Given the description of an element on the screen output the (x, y) to click on. 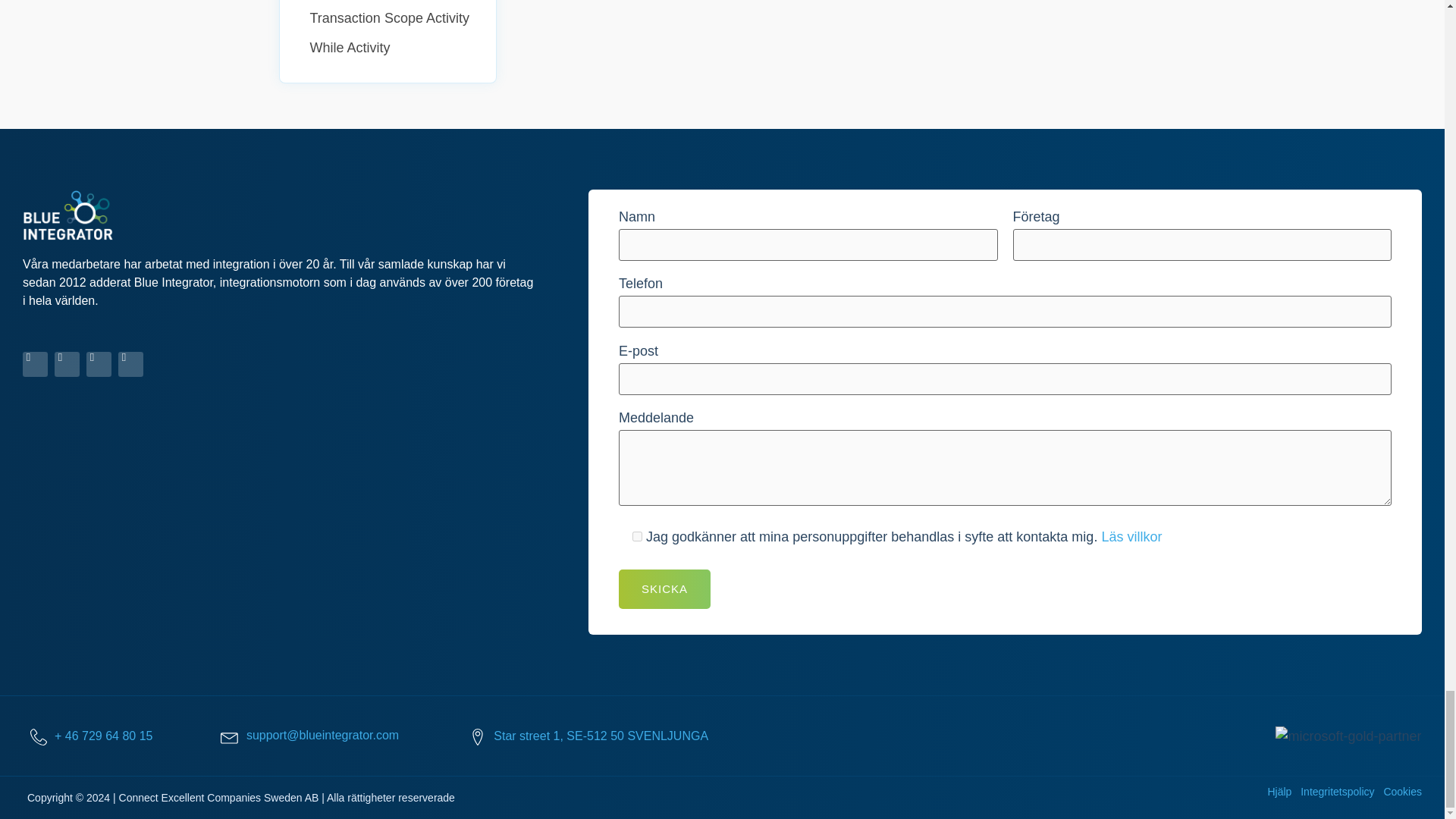
microsoft-gold-partner (1348, 736)
1 (636, 536)
Skicka (664, 589)
